Given the description of an element on the screen output the (x, y) to click on. 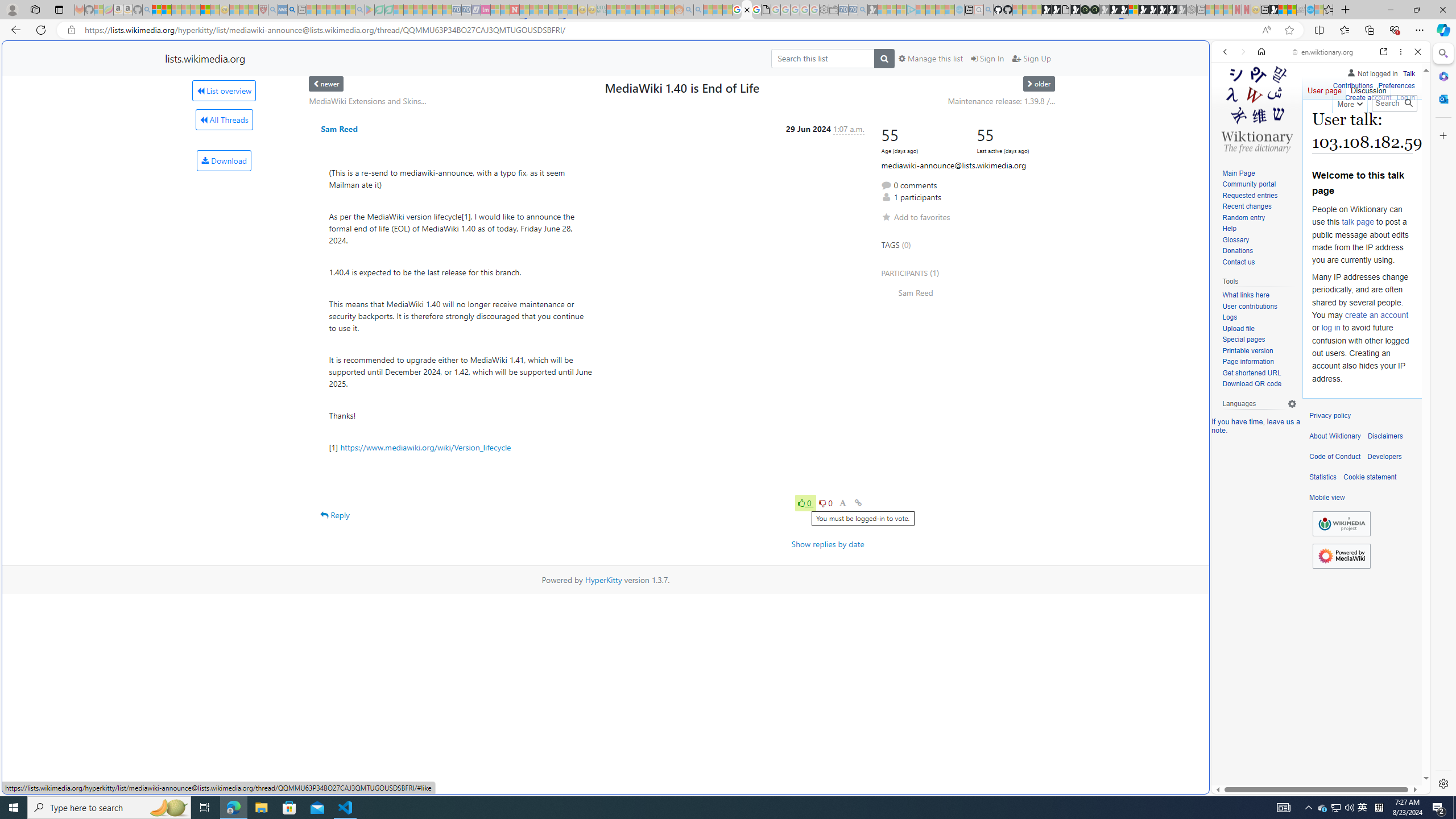
Visit the main page (1257, 108)
Language settings (1292, 403)
What links here (1259, 295)
Recent changes (1259, 206)
Community portal (1259, 184)
Special pages (1243, 339)
https://www.mediawiki.org/wiki/Version_lifecycle (425, 446)
Logs (1229, 317)
